Given the description of an element on the screen output the (x, y) to click on. 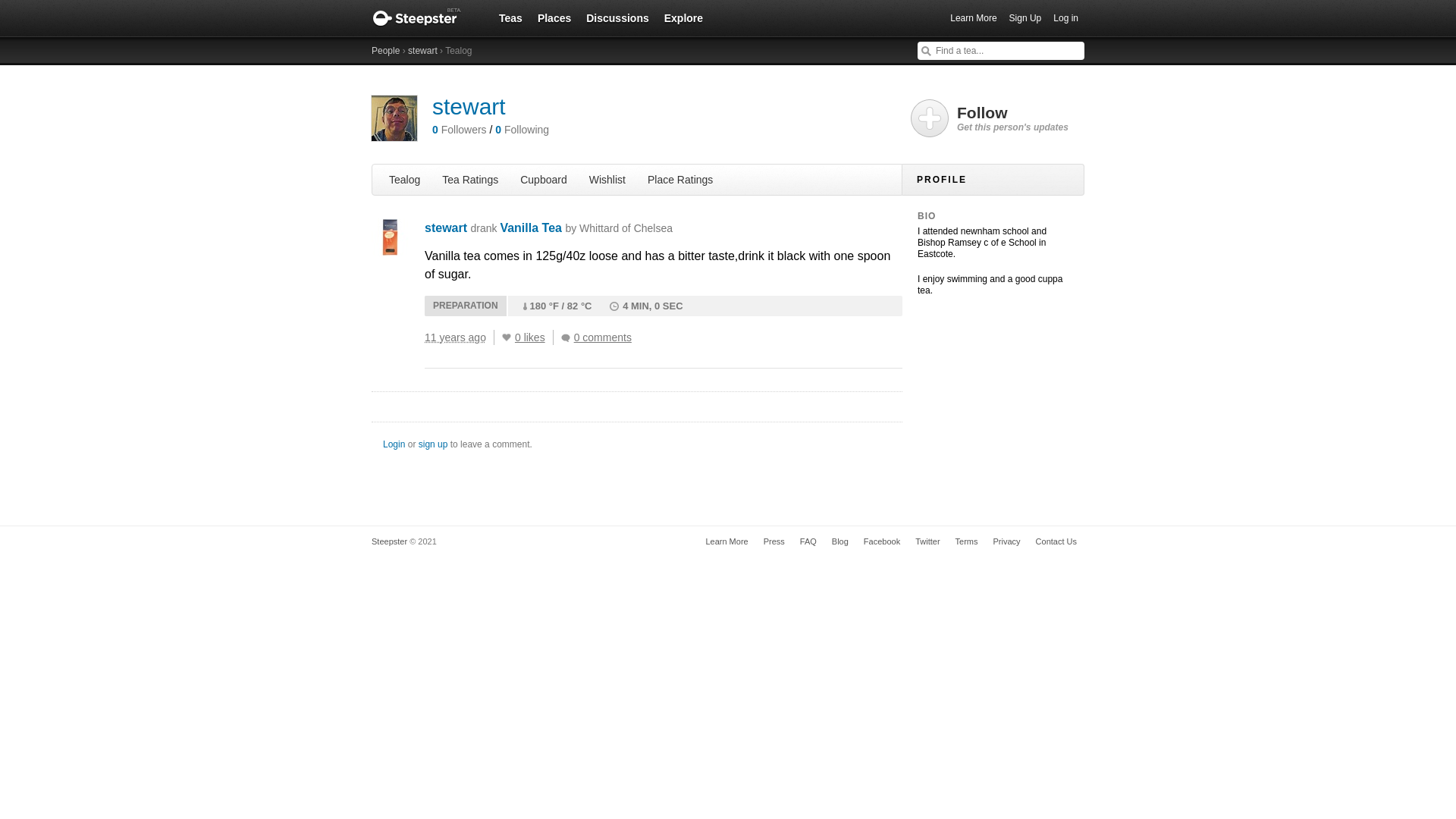
Privacy (1006, 540)
Link to Terms of Use (966, 540)
Like This (506, 337)
11 years ago (460, 337)
Steepster (424, 18)
Tea Ratings (469, 179)
Terms (966, 540)
stewart (422, 50)
Sign Up (1025, 18)
Explore (683, 17)
